Given the description of an element on the screen output the (x, y) to click on. 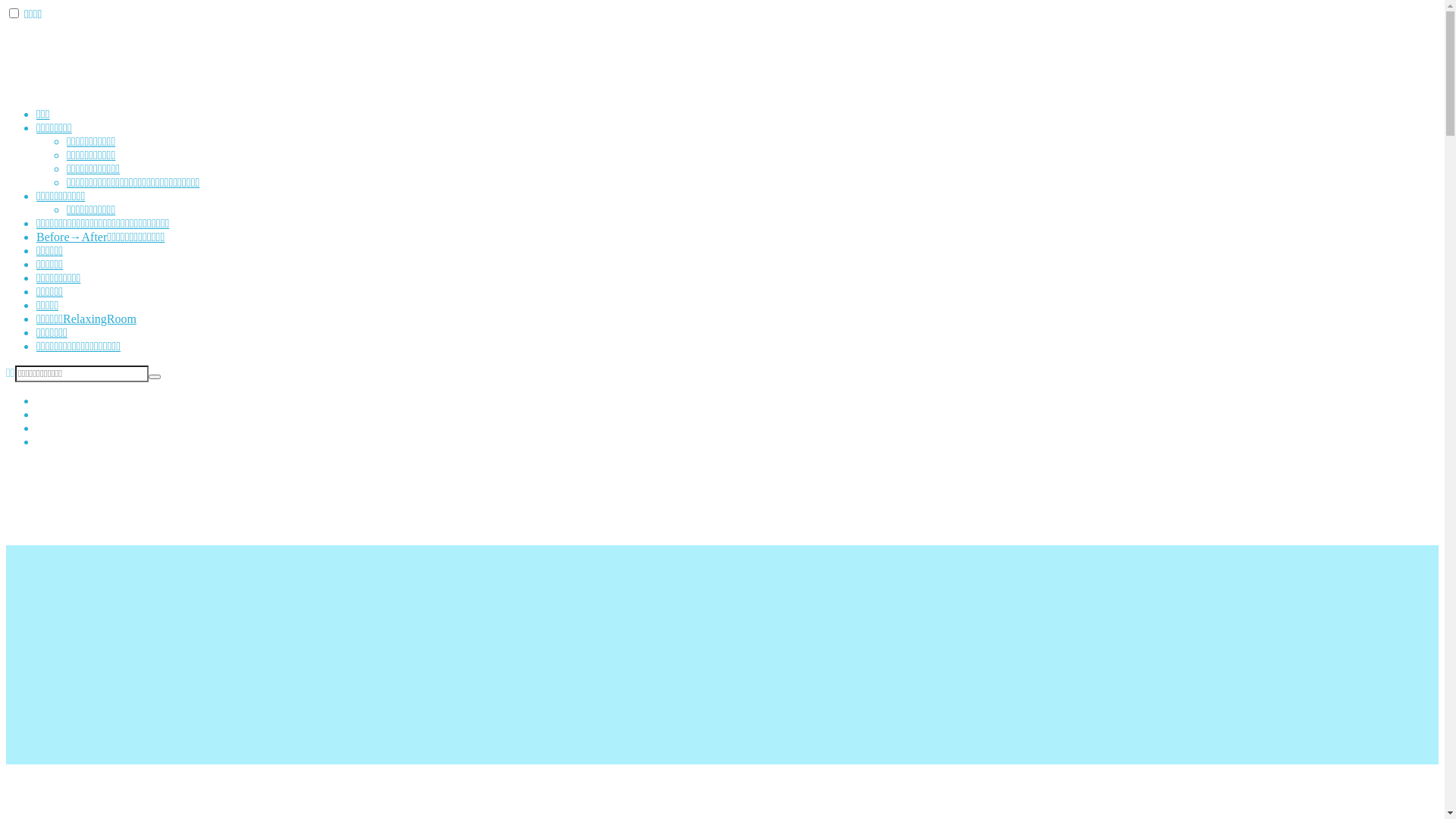
menu Element type: hover (13, 13)
